Given the description of an element on the screen output the (x, y) to click on. 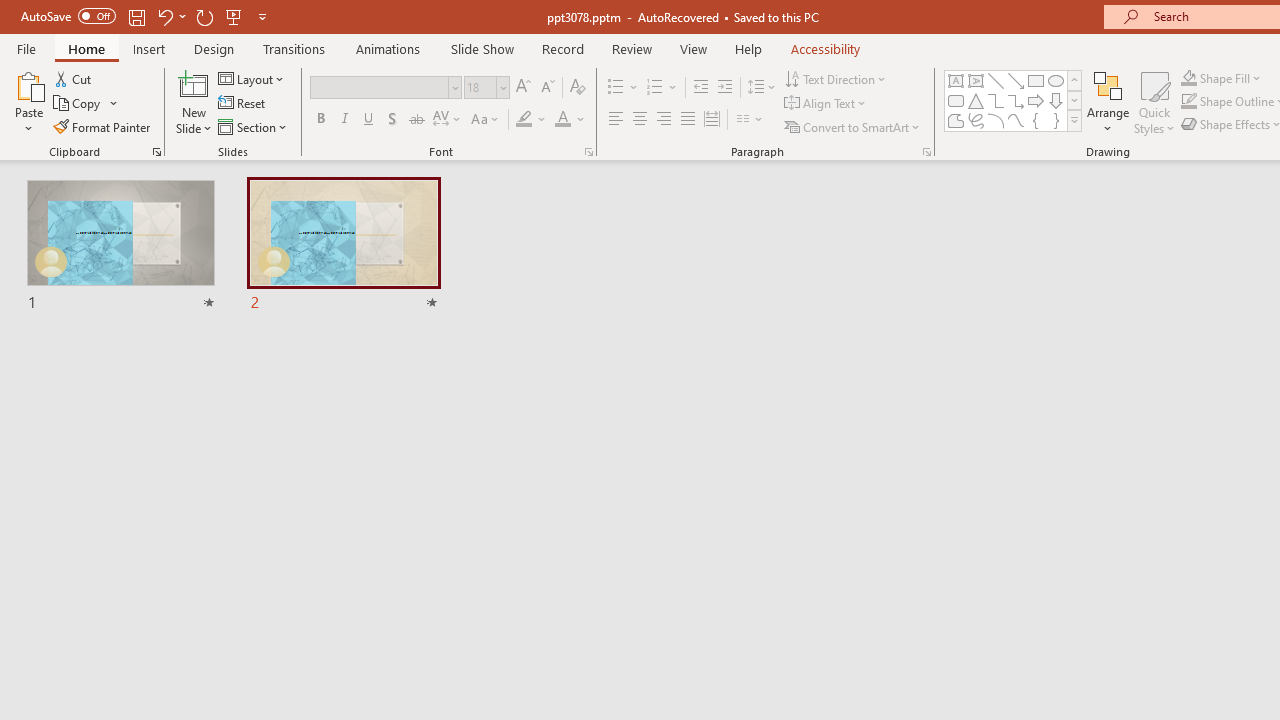
Curve (1016, 120)
Connector: Elbow (995, 100)
New Slide (193, 102)
Review (631, 48)
Font (379, 87)
Save (136, 15)
Oval (1055, 80)
View (693, 48)
Font Color (569, 119)
AutoSave (68, 16)
Cut (73, 78)
Quick Styles (1154, 102)
Insert (149, 48)
Text Highlight Color Yellow (524, 119)
